Given the description of an element on the screen output the (x, y) to click on. 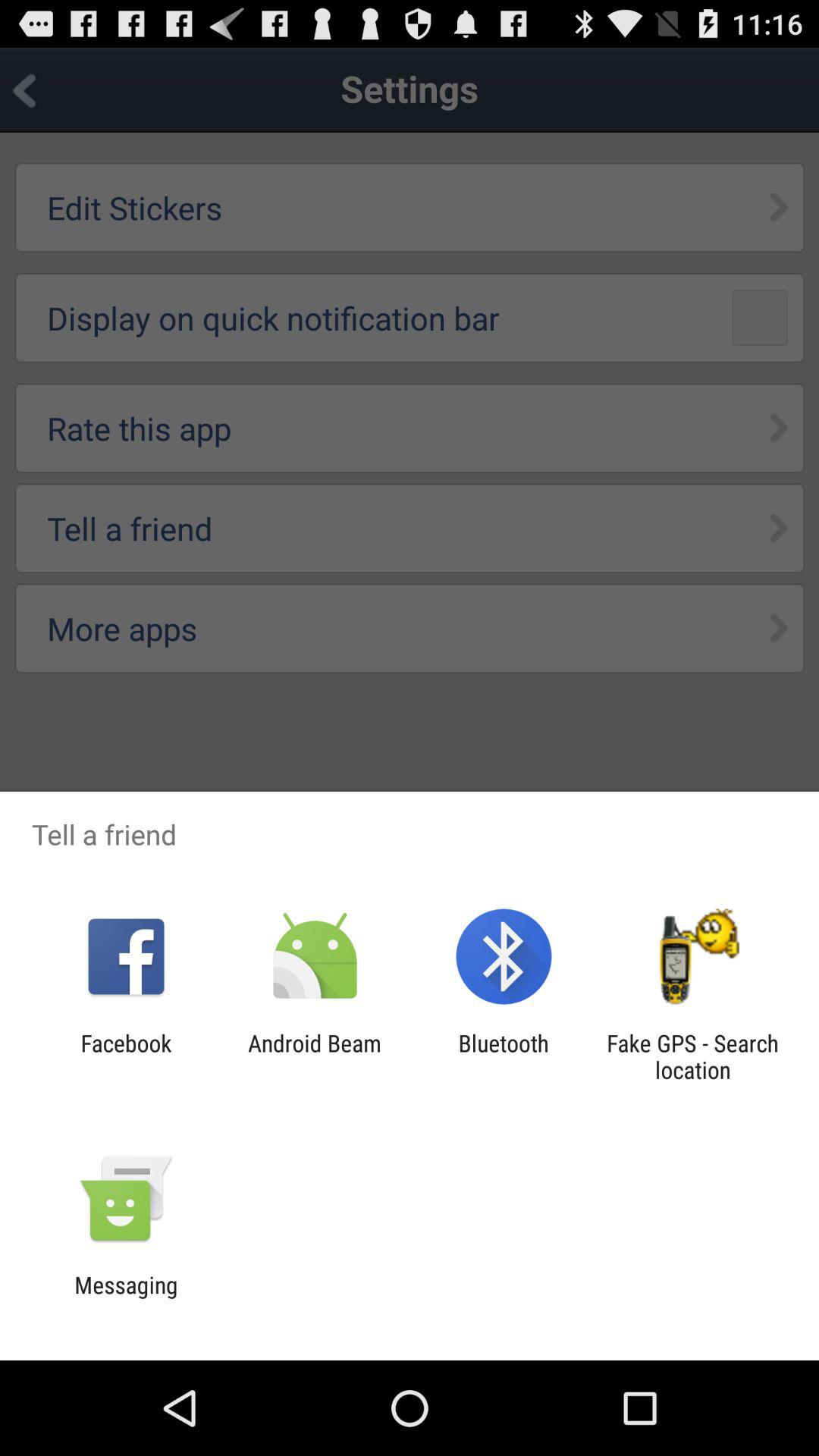
open the app next to the android beam app (503, 1056)
